Given the description of an element on the screen output the (x, y) to click on. 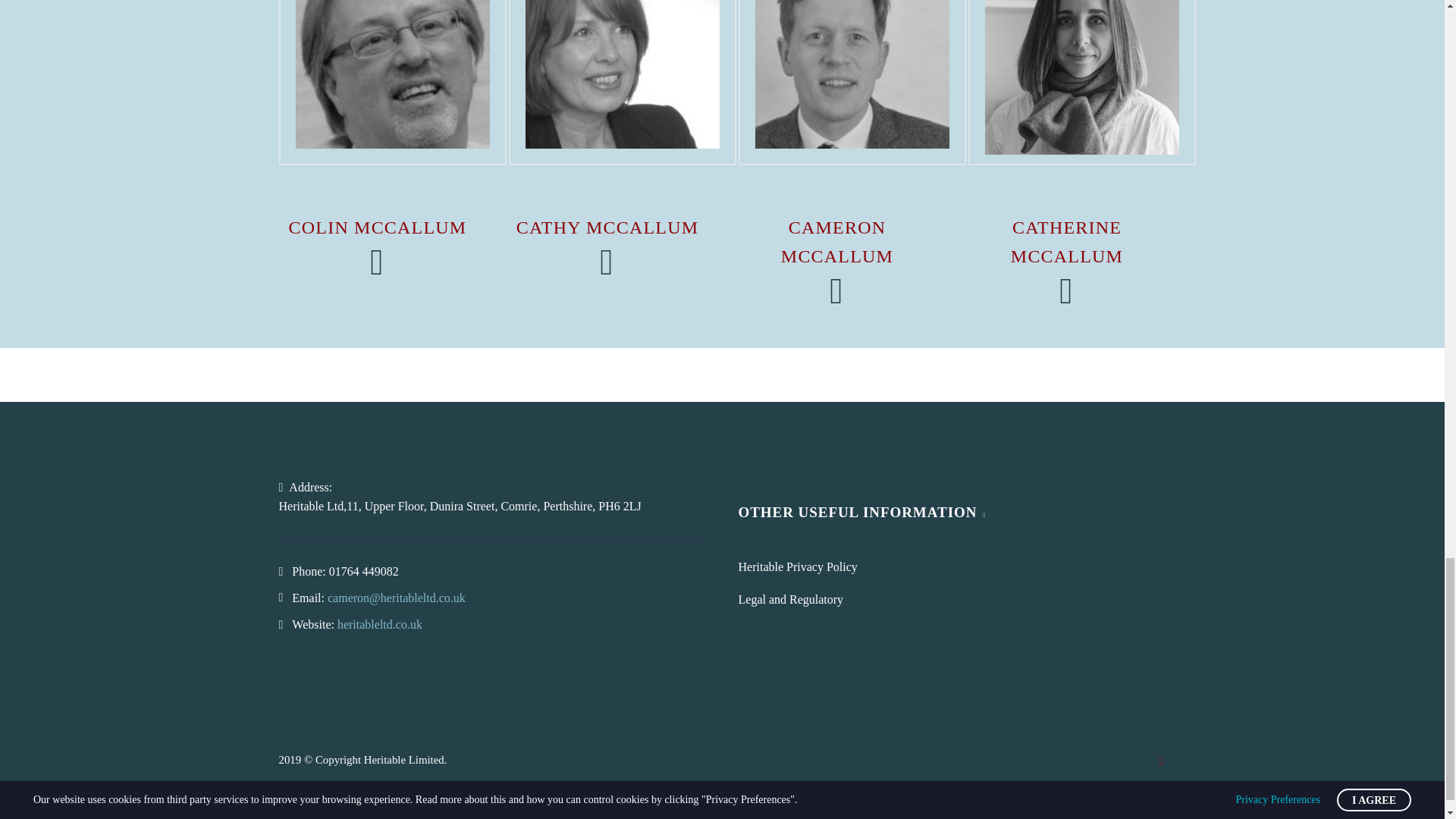
LinkedIn (1161, 761)
Heritable Privacy Policy (797, 566)
CAMERON MCCALLUM (836, 241)
CATHY MCCALLUM (607, 227)
COLIN MCCALLUM (377, 227)
Legal and Regulatory (791, 599)
heritableltd.co.uk (379, 624)
CATHERINE MCCALLUM (1066, 241)
01764 449082 (363, 571)
